Given the description of an element on the screen output the (x, y) to click on. 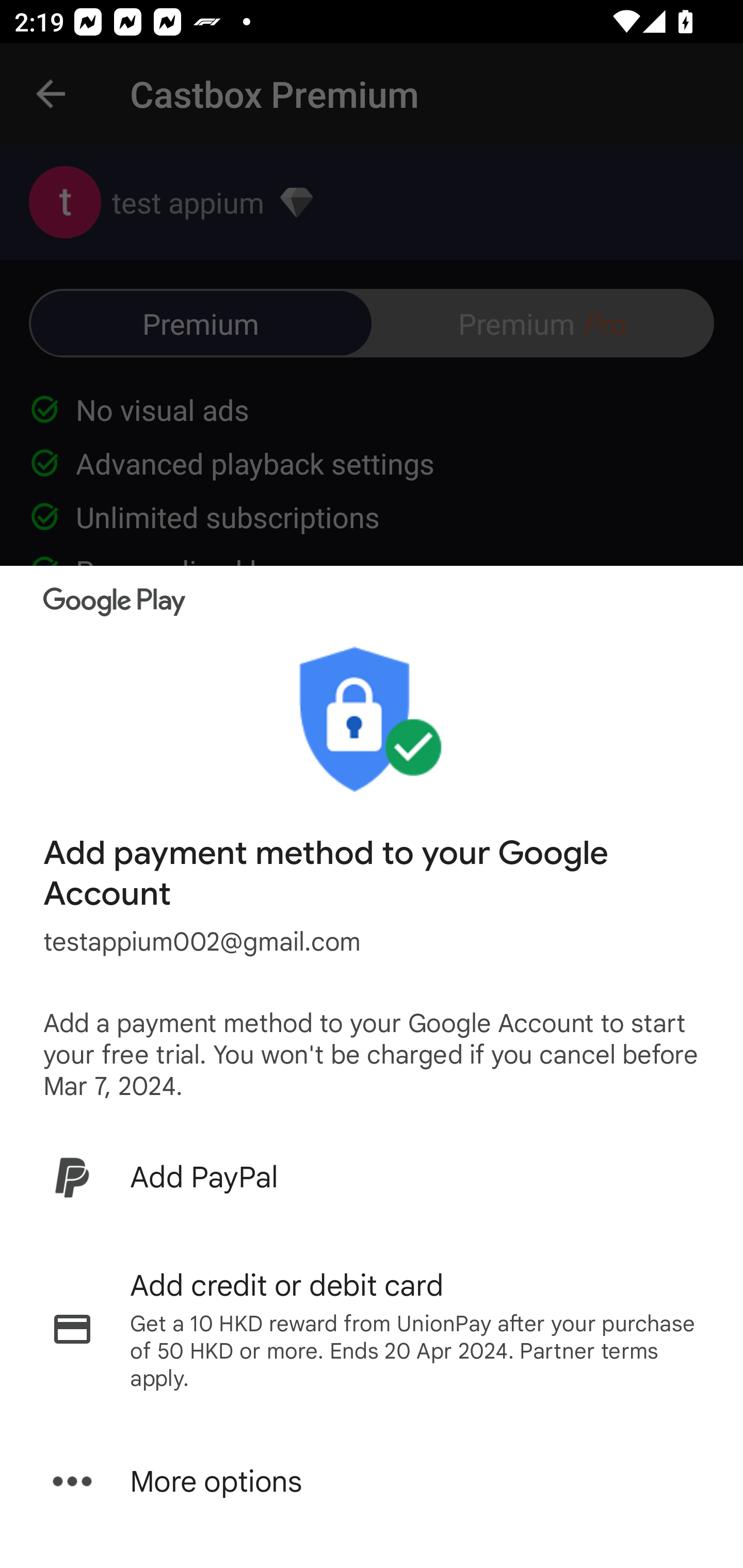
Add PayPal (371, 1177)
More options (371, 1481)
